Given the description of an element on the screen output the (x, y) to click on. 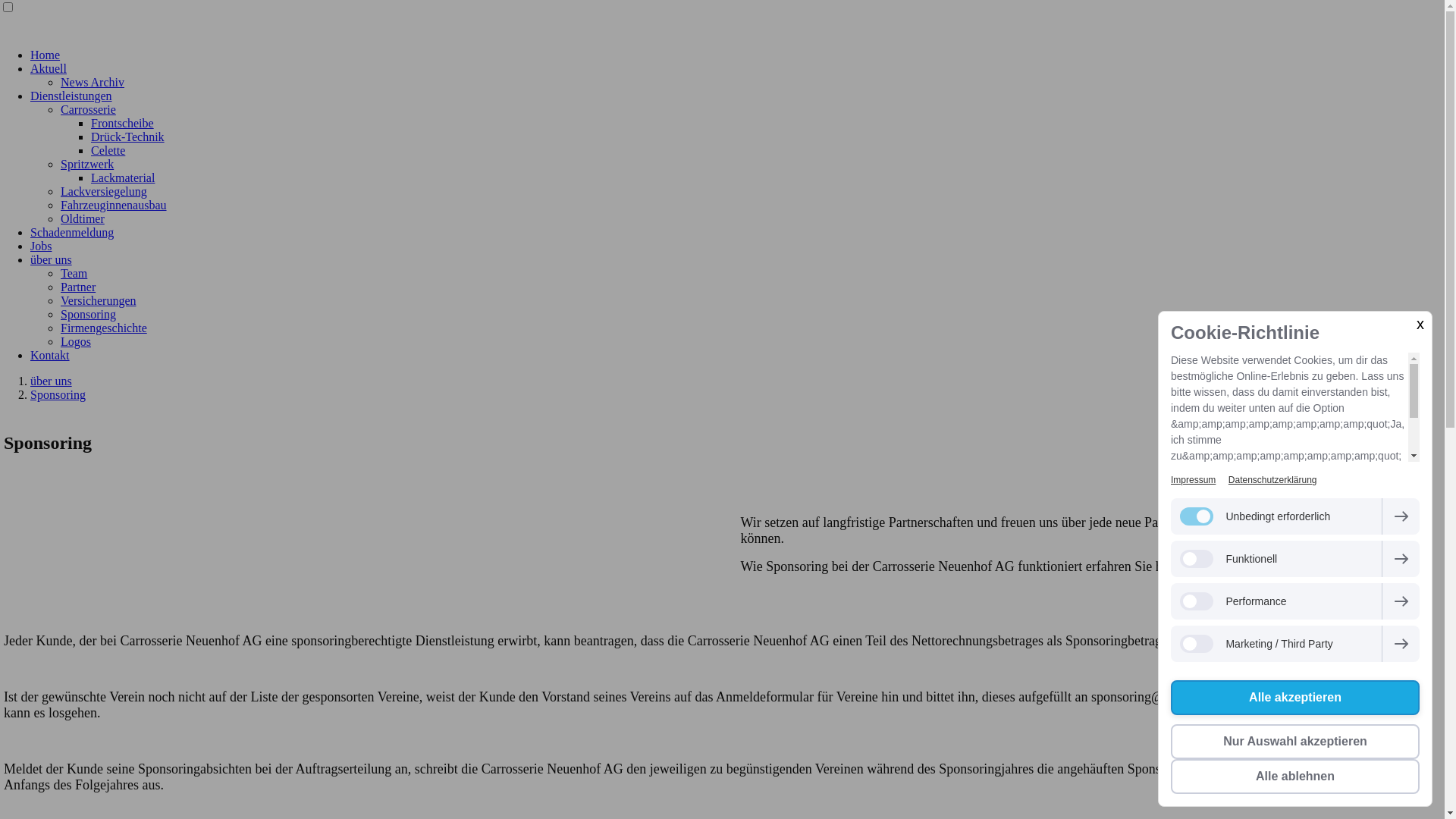
Firmengeschichte Element type: text (103, 327)
Jobs Element type: text (40, 245)
Schadenmeldung Element type: text (71, 231)
Home Element type: text (44, 54)
Versicherungen Element type: text (98, 300)
Spritzwerk Element type: text (86, 163)
Sponsoring Element type: text (88, 313)
Team Element type: text (73, 272)
Fahrzeuginnenausbau Element type: text (113, 204)
Lackversiegelung Element type: text (103, 191)
Nur Auswahl akzeptieren Element type: text (1294, 741)
Oldtimer Element type: text (82, 218)
Lackmaterial Element type: text (122, 177)
Carrosserie Element type: text (88, 109)
Logos Element type: text (75, 341)
Sponsoring Element type: text (57, 394)
Celette Element type: text (108, 150)
Partner Element type: text (77, 286)
Frontscheibe Element type: text (122, 122)
Alle ablehnen Element type: text (1294, 776)
Dienstleistungen Element type: text (71, 95)
Kontakt Element type: text (49, 354)
News Archiv Element type: text (92, 81)
Impressum Element type: text (1192, 479)
Aktuell Element type: text (48, 68)
Alle akzeptieren Element type: text (1294, 697)
